Given the description of an element on the screen output the (x, y) to click on. 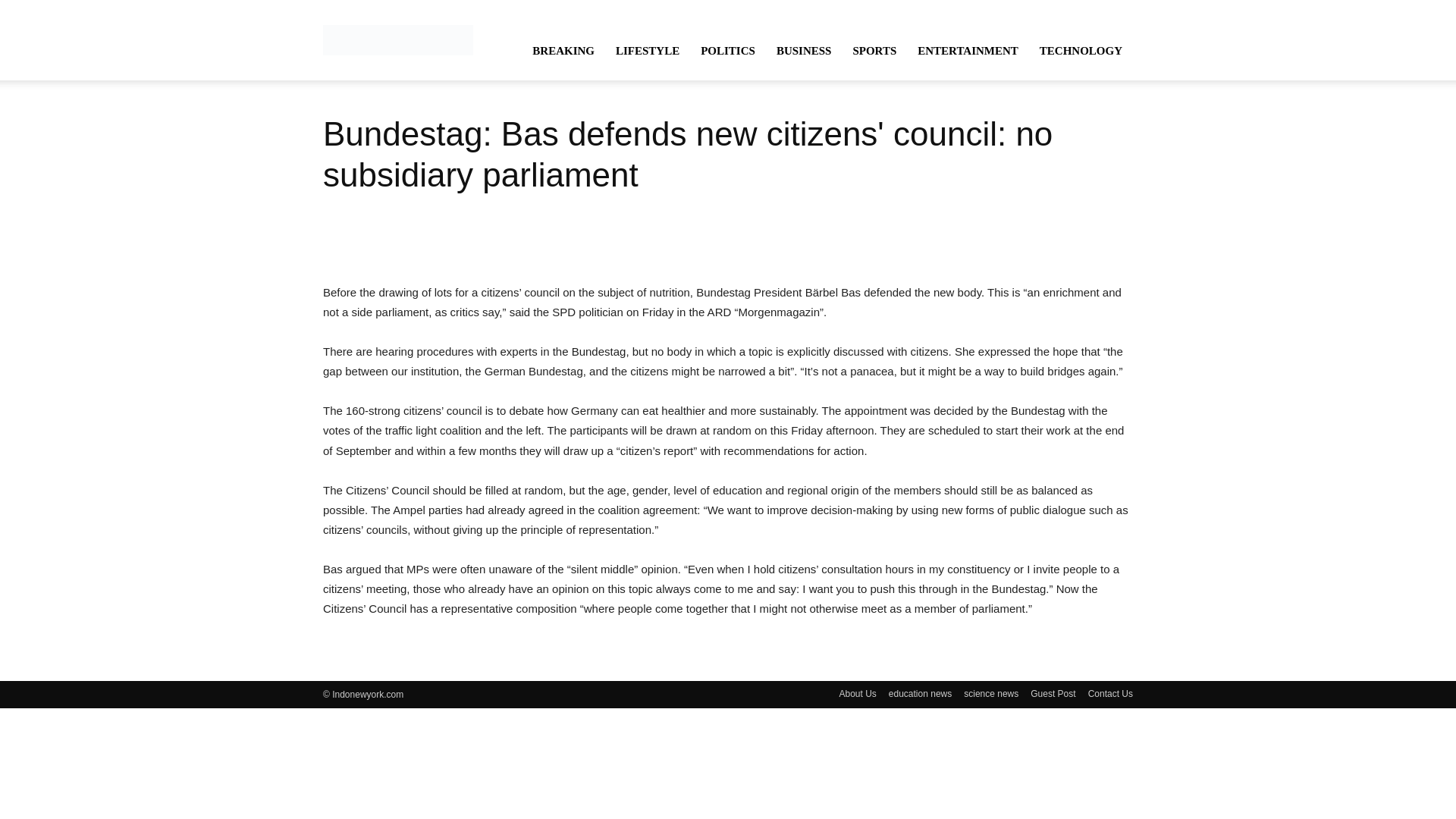
About Us (857, 694)
BREAKING (563, 50)
ENTERTAINMENT (968, 50)
SPORTS (874, 50)
TECHNOLOGY (1080, 50)
Guest Post (1052, 694)
Indo Newyork (398, 39)
POLITICS (727, 50)
education news (920, 694)
LIFESTYLE (647, 50)
